Given the description of an element on the screen output the (x, y) to click on. 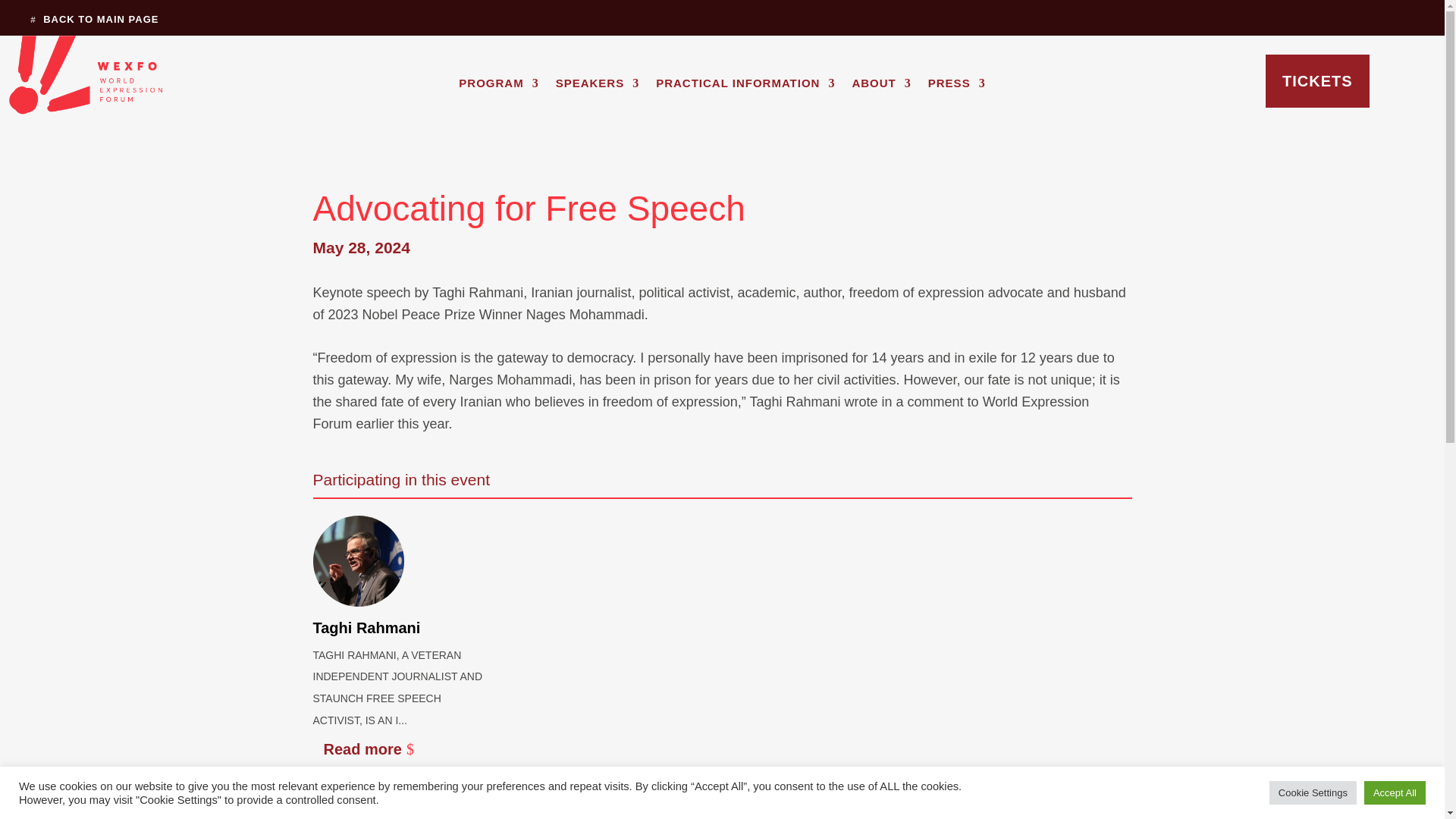
PROGRAM (498, 86)
PRESS (956, 86)
ABOUT (881, 86)
BACK TO MAIN PAGE (79, 23)
SPEAKERS (598, 86)
PRACTICAL INFORMATION (745, 86)
